Given the description of an element on the screen output the (x, y) to click on. 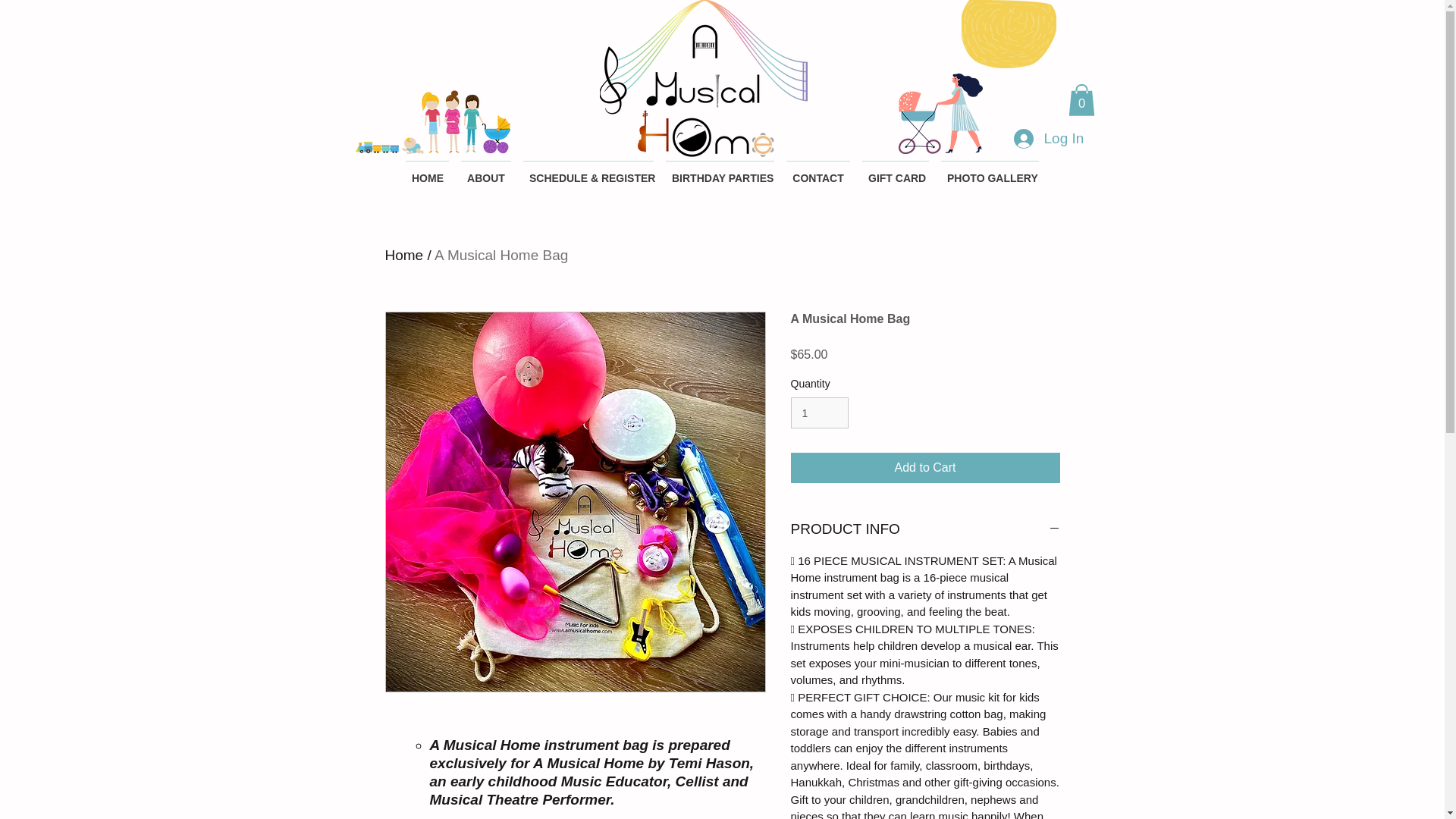
PHOTO GALLERY (989, 170)
BIRTHDAY PARTIES (719, 170)
HOME (426, 170)
GIFT CARD (895, 170)
PRODUCT INFO (924, 529)
Home (404, 254)
1 (818, 412)
ABOUT (485, 170)
Log In (1048, 138)
Add to Cart (924, 467)
